Given the description of an element on the screen output the (x, y) to click on. 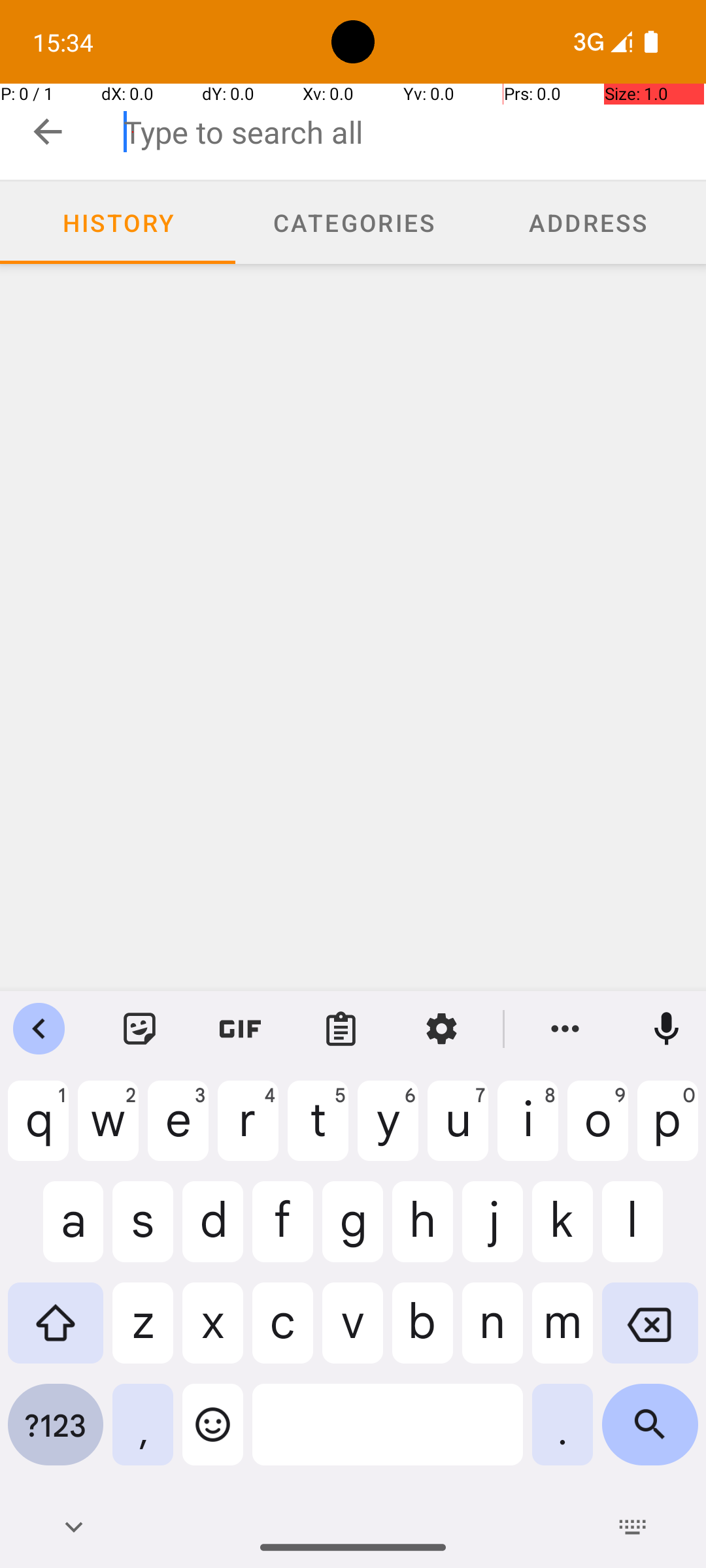
Type to search all Element type: android.widget.EditText (414, 131)
History Element type: android.widget.LinearLayout (117, 222)
Categories Element type: android.widget.LinearLayout (352, 222)
Address Element type: android.widget.LinearLayout (588, 222)
HISTORY Element type: android.widget.TextView (117, 222)
CATEGORIES Element type: android.widget.TextView (352, 222)
ADDRESS Element type: android.widget.TextView (587, 222)
